Given the description of an element on the screen output the (x, y) to click on. 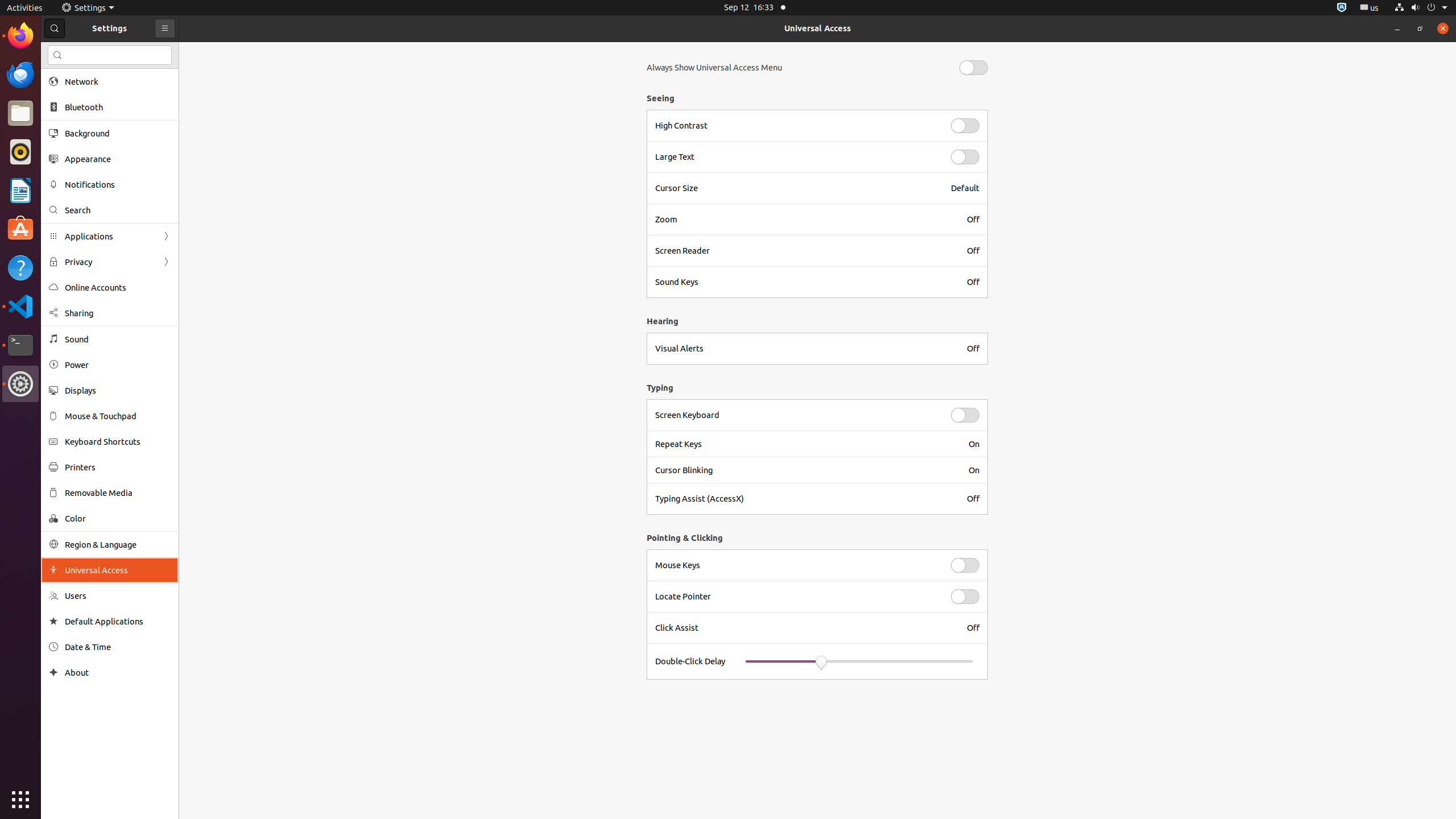
edit-find-symbolic Element type: icon (56, 54)
Region & Language Element type: label (117, 544)
Power Element type: label (117, 364)
Always Show Universal Access Menu Element type: label (714, 67)
